Given the description of an element on the screen output the (x, y) to click on. 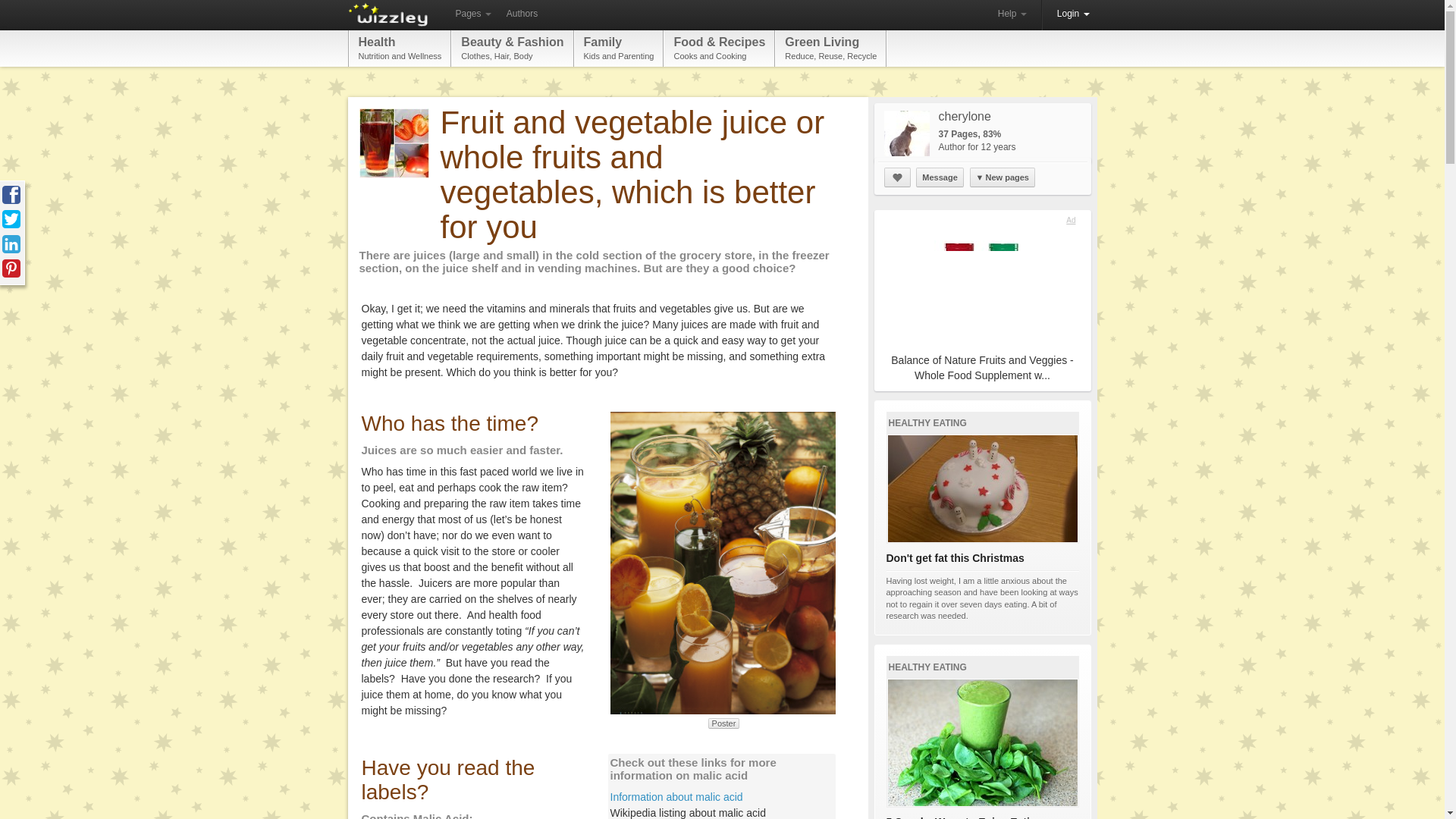
Pages (471, 14)
Follow (897, 177)
Help (618, 48)
Authors (830, 48)
Information about malic acid (1011, 14)
Poster (400, 48)
Login (521, 14)
